Given the description of an element on the screen output the (x, y) to click on. 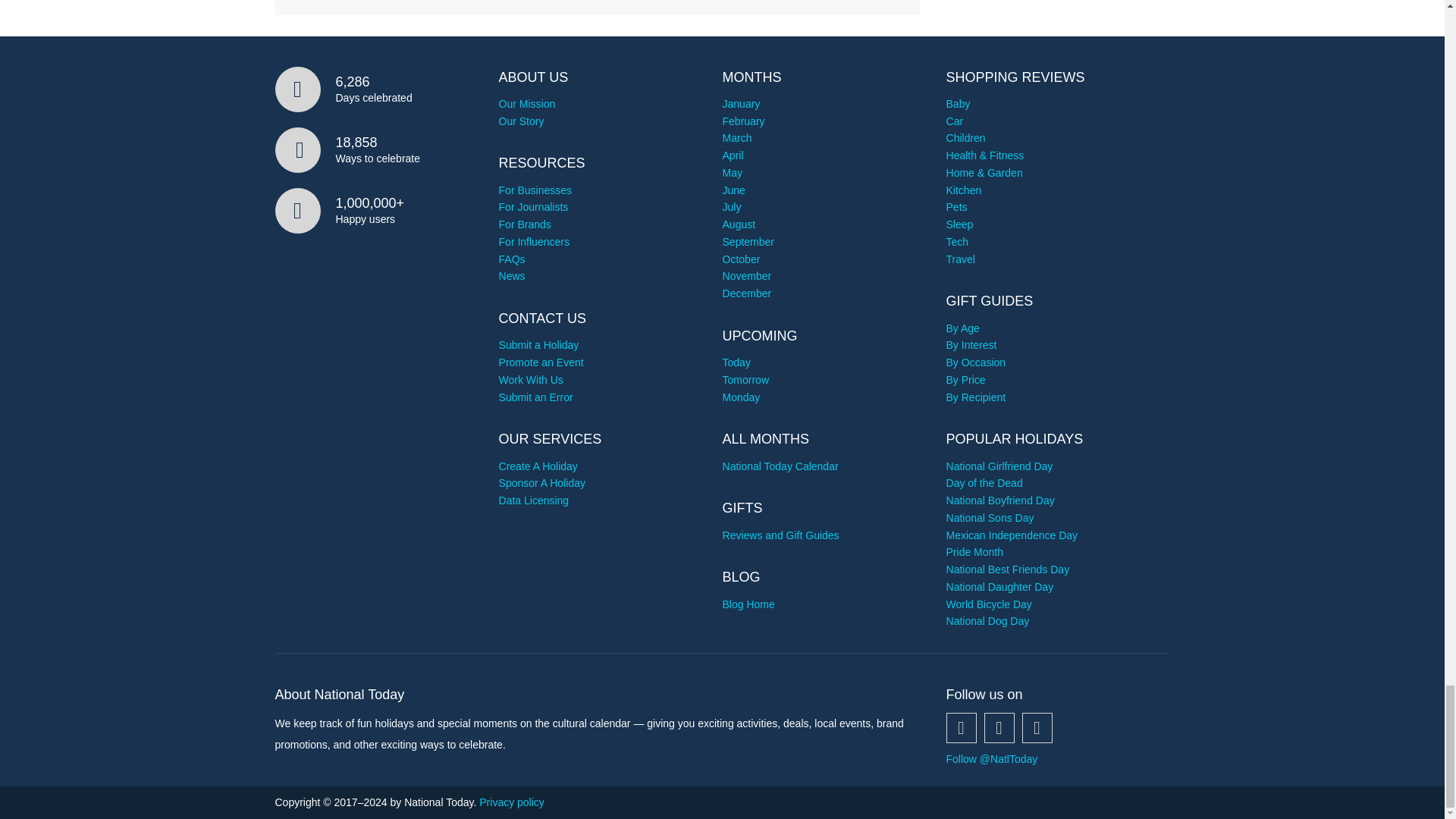
Follow us on Facebook (961, 727)
Follow us on Twitter (999, 727)
Follow us on Instagram (1037, 727)
